Given the description of an element on the screen output the (x, y) to click on. 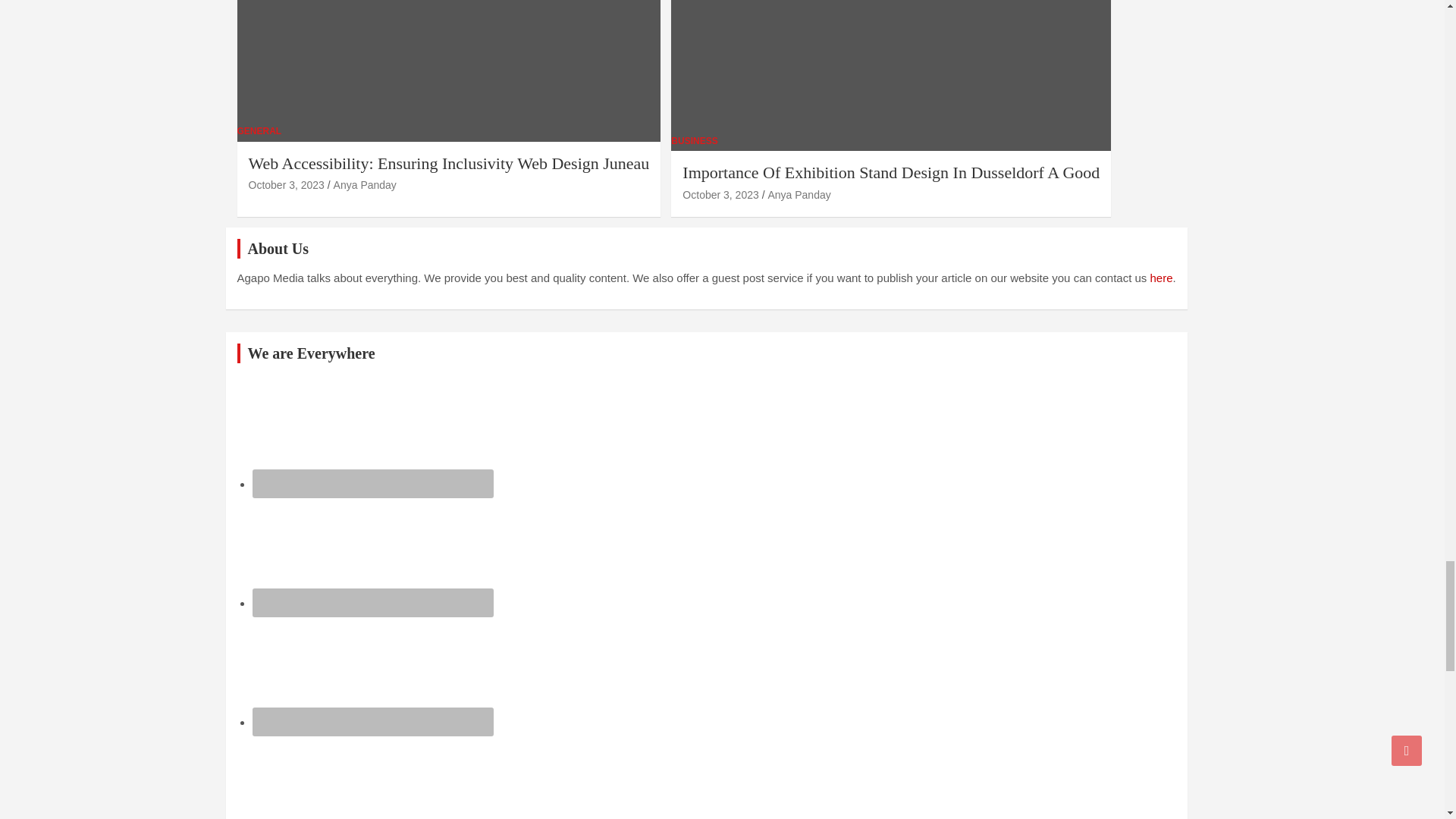
Instagram (372, 550)
LinkedIn (372, 669)
Web Accessibility: Ensuring Inclusivity Web Design Juneau (286, 184)
Facebook (372, 431)
Importance Of Exhibition Stand Design In Dusseldorf A Good (720, 194)
Medium (372, 775)
